Given the description of an element on the screen output the (x, y) to click on. 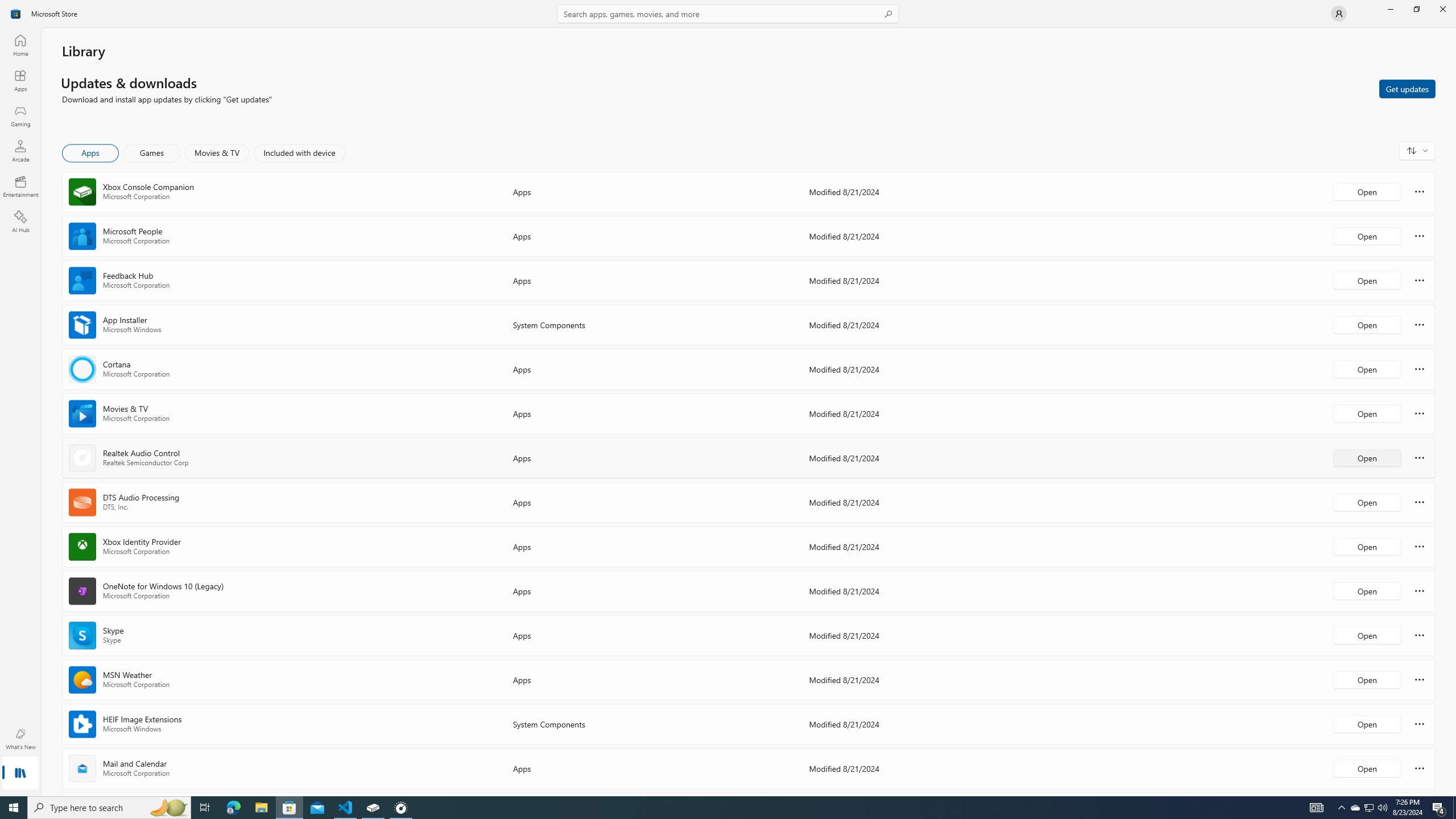
Get updates (1406, 88)
User profile (1338, 13)
Close Microsoft Store (1442, 9)
Sort and filter (1417, 149)
Apps (90, 153)
Entertainment (20, 185)
Included with device (299, 153)
Restore Microsoft Store (1416, 9)
Arcade (20, 150)
Home (20, 45)
Class: Image (15, 13)
AutomationID: NavigationControl (728, 398)
AI Hub (20, 221)
Movies & TV (216, 153)
More options (1419, 768)
